Given the description of an element on the screen output the (x, y) to click on. 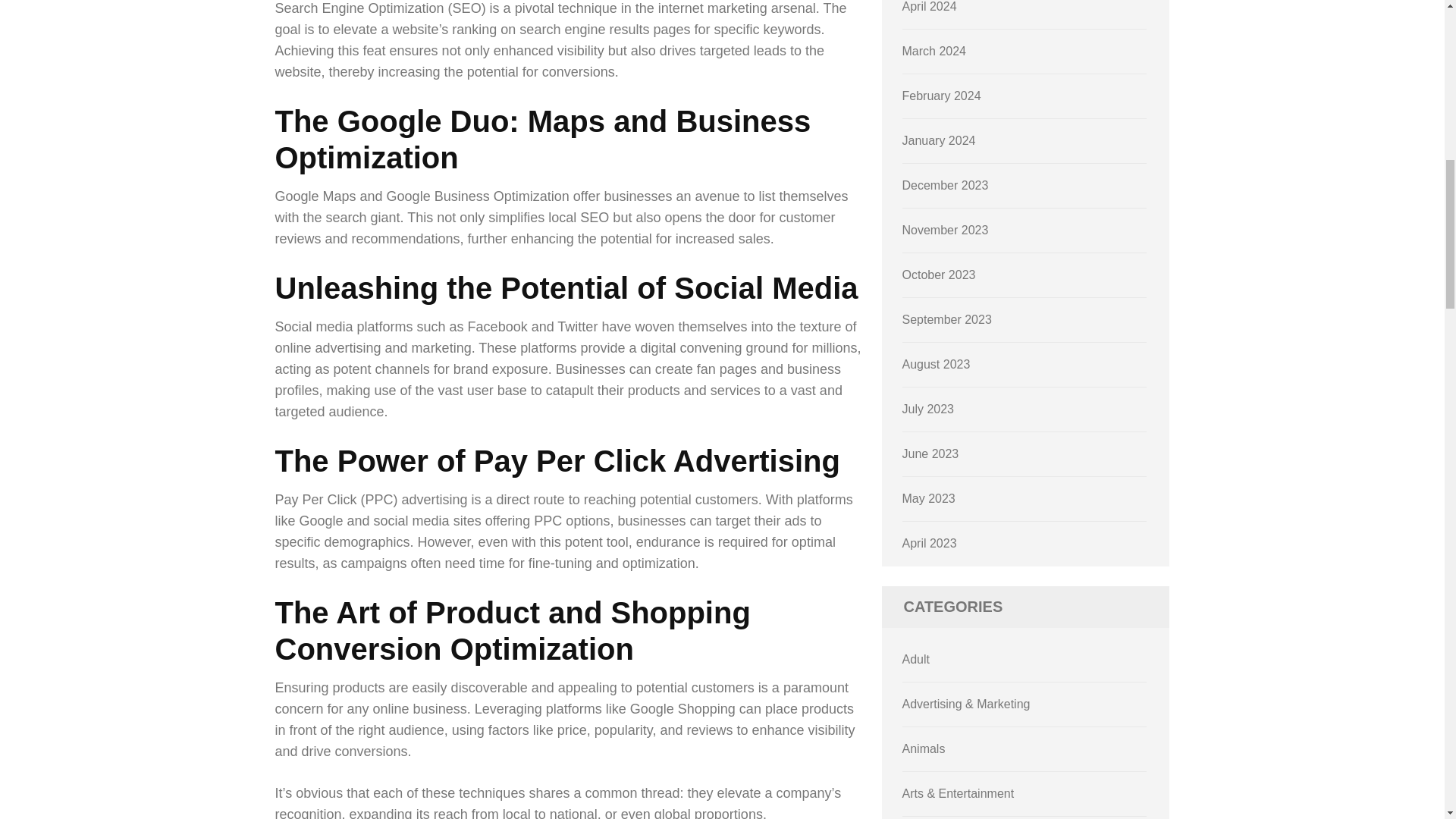
May 2023 (928, 498)
September 2023 (946, 318)
January 2024 (938, 140)
March 2024 (934, 51)
Adult (916, 658)
December 2023 (945, 185)
November 2023 (945, 229)
February 2024 (941, 95)
July 2023 (928, 408)
April 2023 (929, 543)
October 2023 (938, 274)
April 2024 (929, 6)
August 2023 (936, 364)
June 2023 (930, 453)
Animals (923, 748)
